Given the description of an element on the screen output the (x, y) to click on. 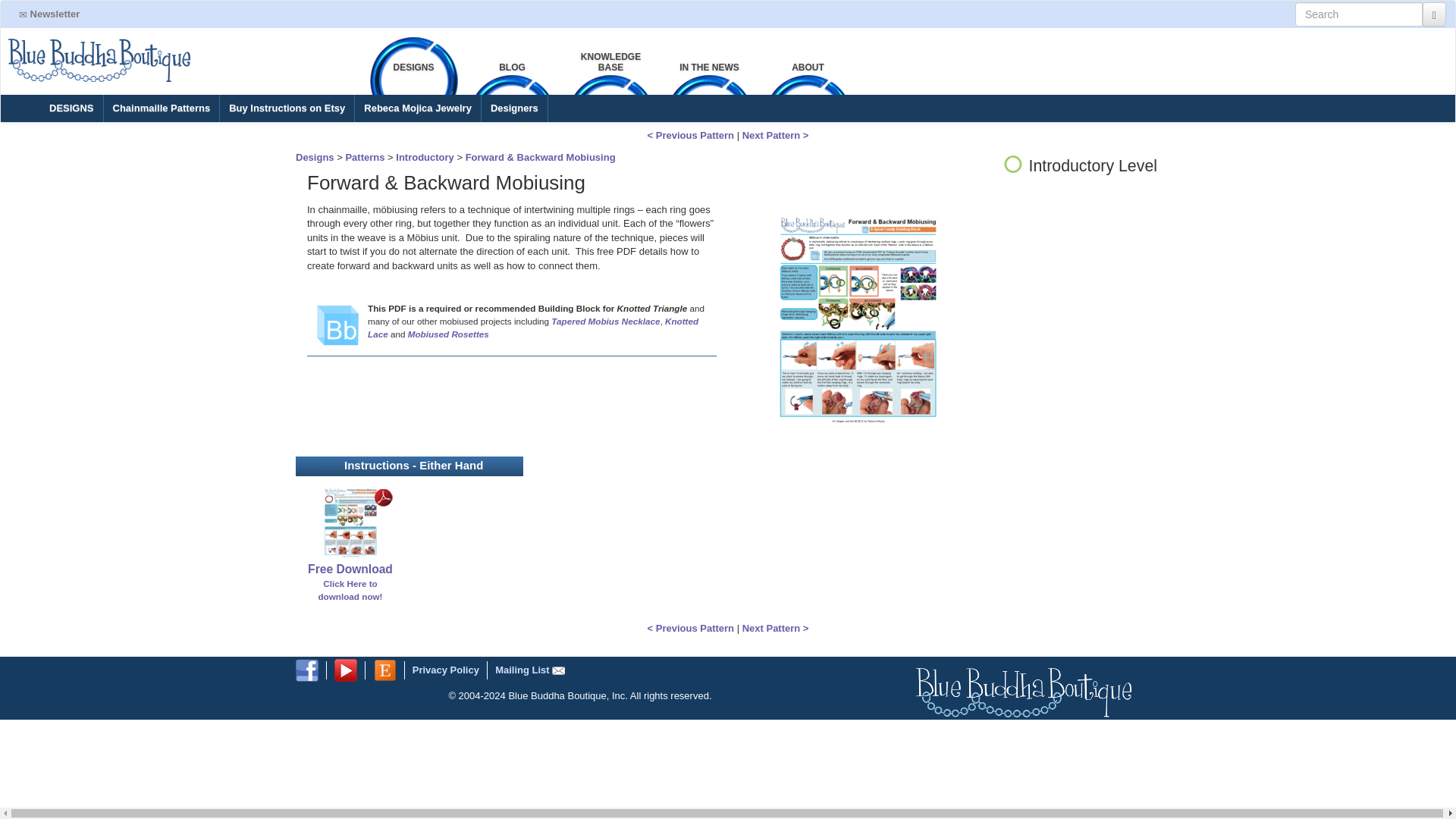
Free Download (350, 568)
Blue Buddha Chainmaille Designs (161, 108)
Rebeca Mojica Jewelry (417, 108)
Mobiused Rosettes (448, 334)
ABOUT (807, 65)
Building Block (336, 325)
Designers (514, 108)
Mailing List (529, 669)
The Artists Of Blue Buddha (514, 108)
Chainmaille Patterns (161, 108)
